Given the description of an element on the screen output the (x, y) to click on. 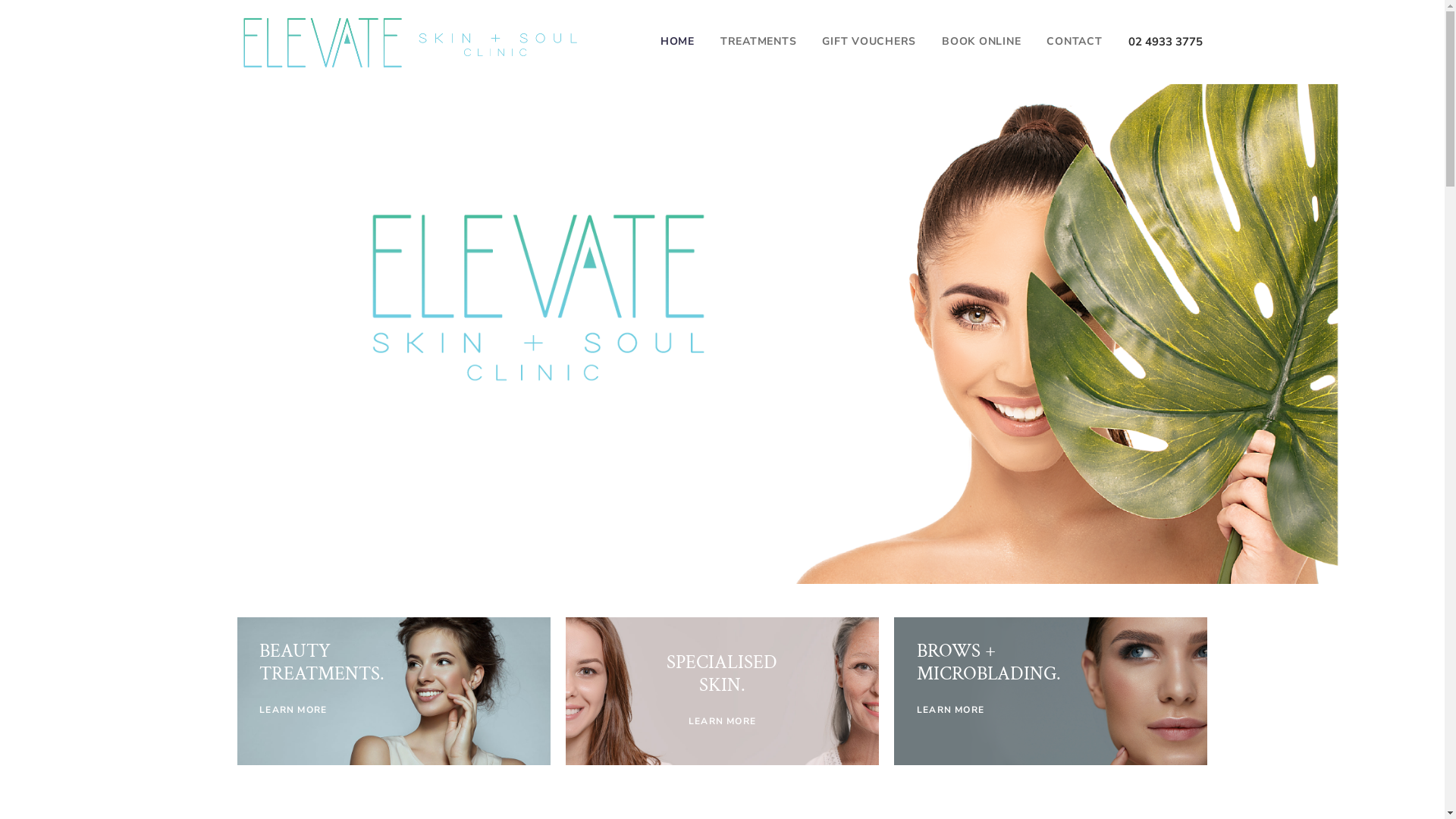
LEARN MORE Element type: text (950, 709)
LEARN MORE Element type: text (292, 709)
LEARN MORE Element type: text (722, 721)
02 4933 3775 Element type: text (1165, 41)
TREATMENTS Element type: text (758, 41)
CONTACT Element type: text (1073, 41)
GIFT VOUCHERS Element type: text (868, 41)
BOOK ONLINE Element type: text (980, 41)
HOME Element type: text (677, 41)
